Given the description of an element on the screen output the (x, y) to click on. 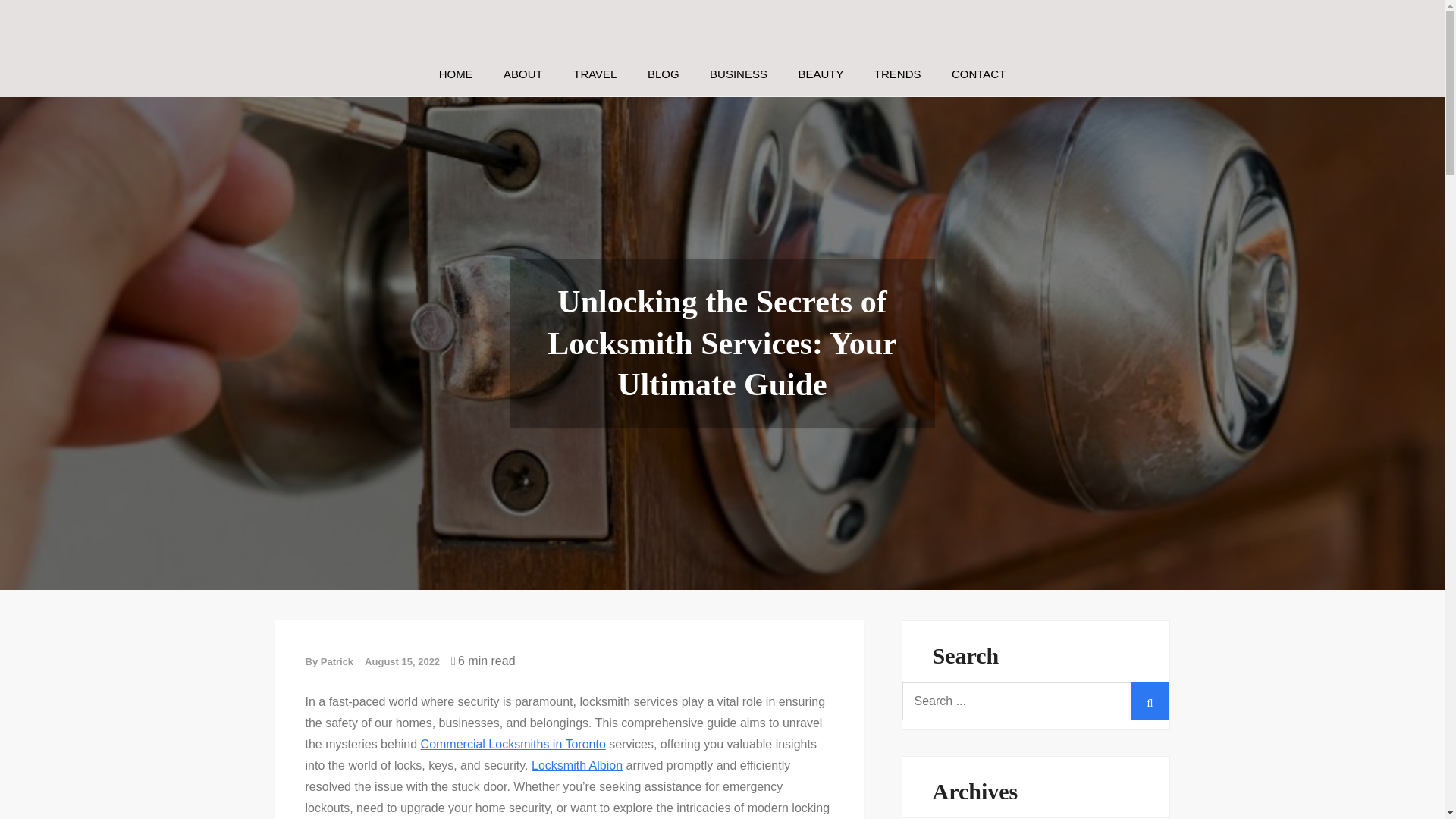
BEAUTY (820, 119)
Patrick (336, 706)
Search for: (1035, 746)
HOME (455, 119)
August 15, 2022 (402, 706)
TRENDS (897, 119)
Search (1150, 746)
ABOUT (522, 119)
TRAVEL (594, 119)
CONTACT (978, 119)
Locksmith Albion (577, 810)
BLOG (663, 119)
BUSINESS (737, 119)
Commercial Locksmiths in Toronto (512, 789)
